Given the description of an element on the screen output the (x, y) to click on. 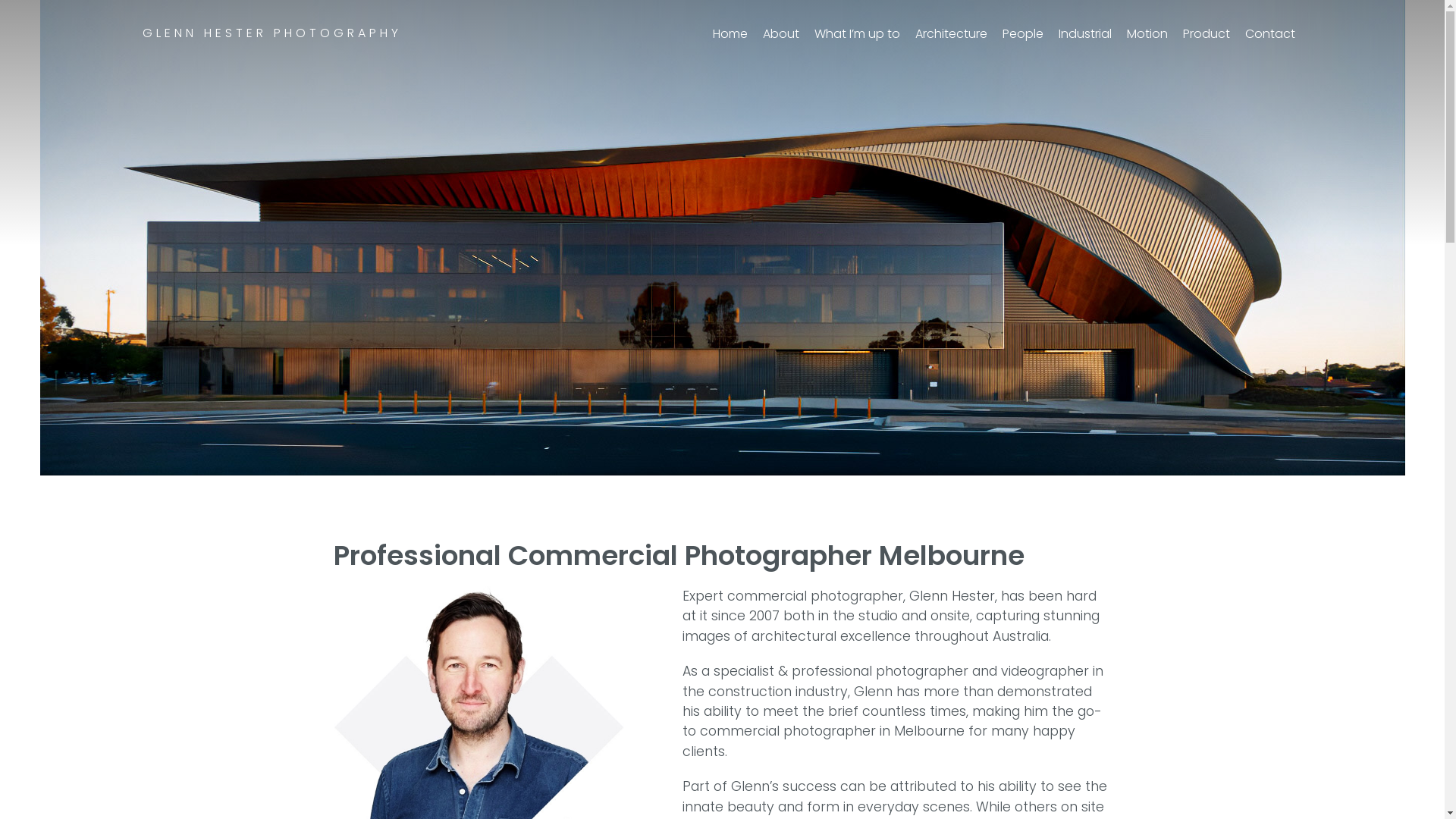
People Element type: text (1022, 33)
GLENN HESTER PHOTOGRAPHY Element type: text (271, 32)
Contact Element type: text (1270, 33)
About Element type: text (780, 33)
Architecture Element type: text (950, 33)
Product Element type: text (1206, 33)
Industrial Element type: text (1084, 33)
Home Element type: text (729, 33)
Motion Element type: text (1146, 33)
